Given the description of an element on the screen output the (x, y) to click on. 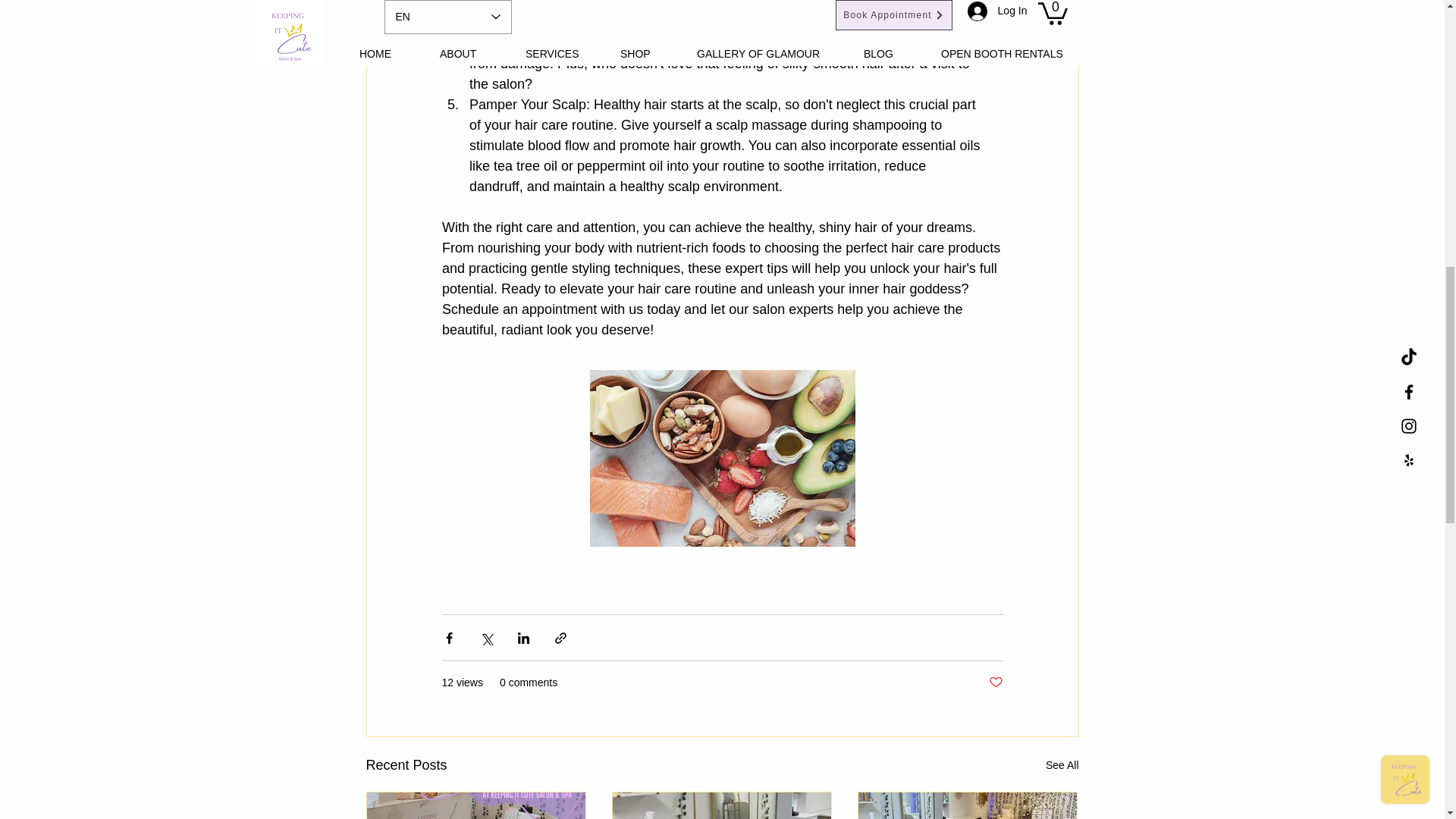
Post not marked as liked (995, 682)
See All (1061, 765)
